Given the description of an element on the screen output the (x, y) to click on. 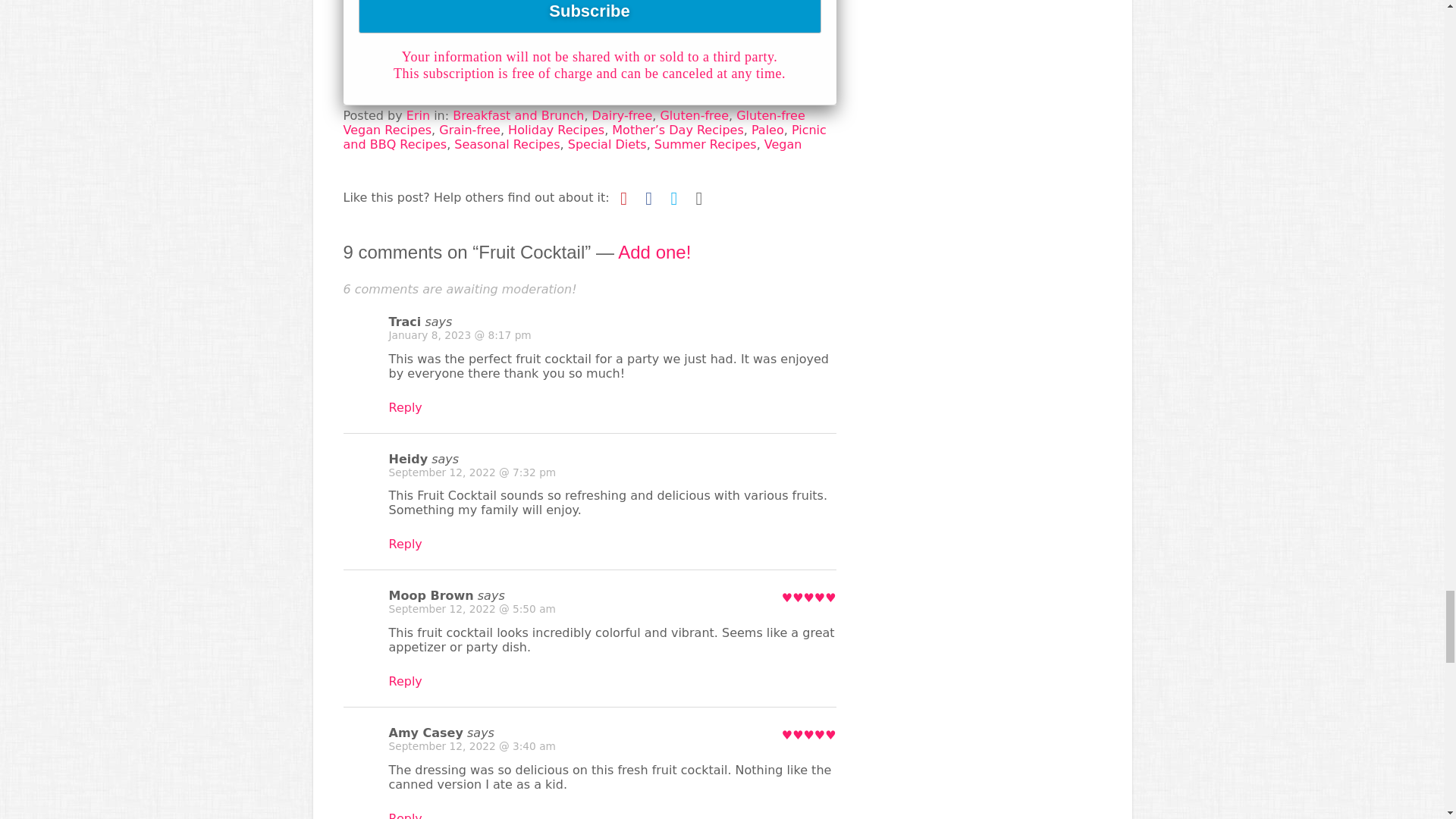
Holiday Recipes (556, 129)
Summer Recipes (705, 144)
Seasonal Recipes (506, 144)
Share post on Facebook (649, 196)
Subscribe (589, 16)
Subscribe (589, 16)
Paleo (767, 129)
Erin (417, 115)
Pin post on Pinterest (623, 196)
Share post on Twitter (673, 196)
